Given the description of an element on the screen output the (x, y) to click on. 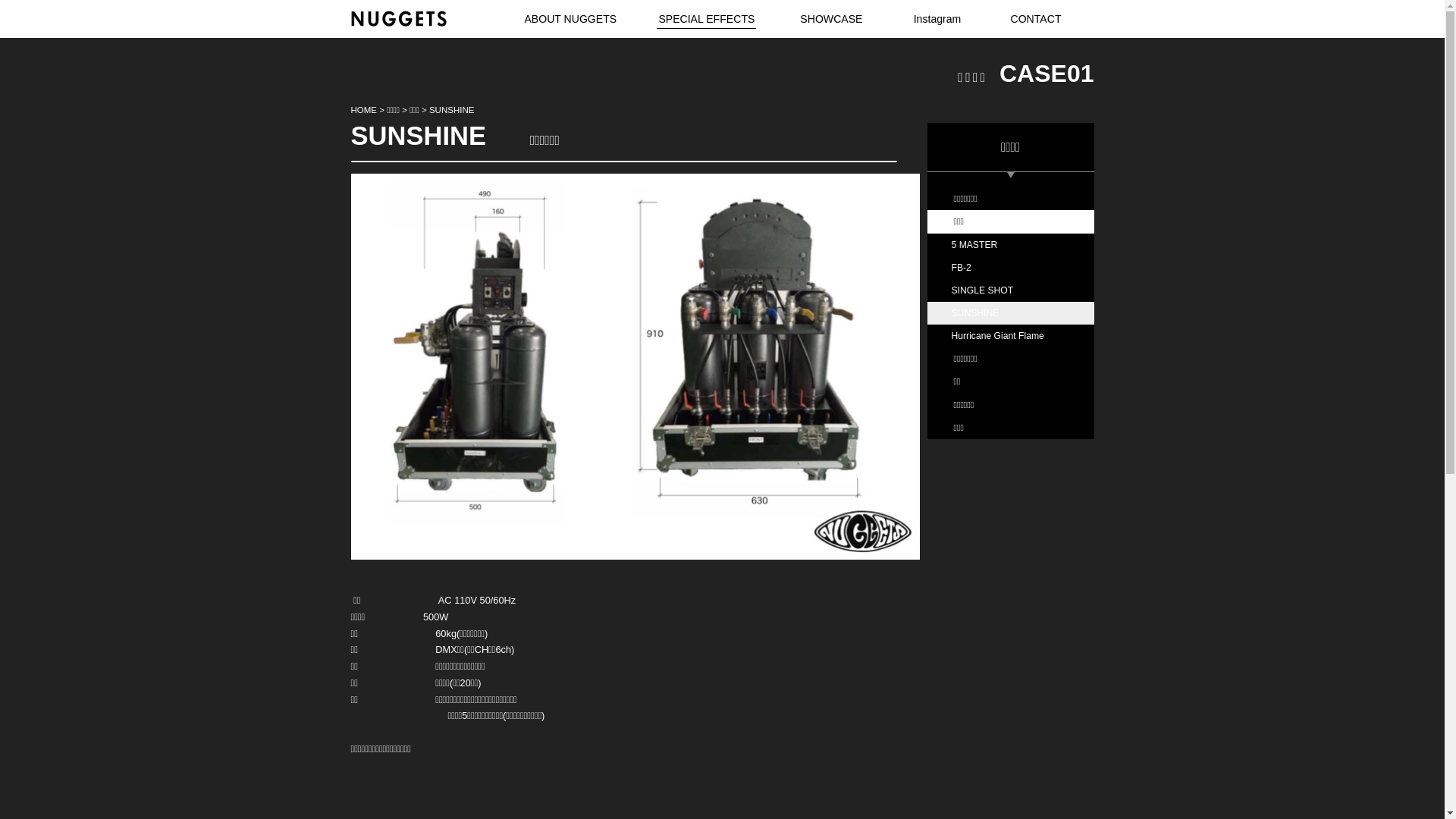
SUNSHINE Element type: text (1009, 312)
Hurricane Giant Flame Element type: text (1009, 335)
5 MASTER Element type: text (1009, 244)
HOME Element type: text (363, 109)
Instagram Element type: text (937, 20)
FB-2 Element type: text (1009, 267)
SINGLE SHOT Element type: text (1009, 290)
ABOUT NUGGETS Element type: text (570, 20)
SPECIAL EFFECTS Element type: text (706, 20)
SHOWCASE Element type: text (830, 20)
CONTACT Element type: text (1035, 20)
